Given the description of an element on the screen output the (x, y) to click on. 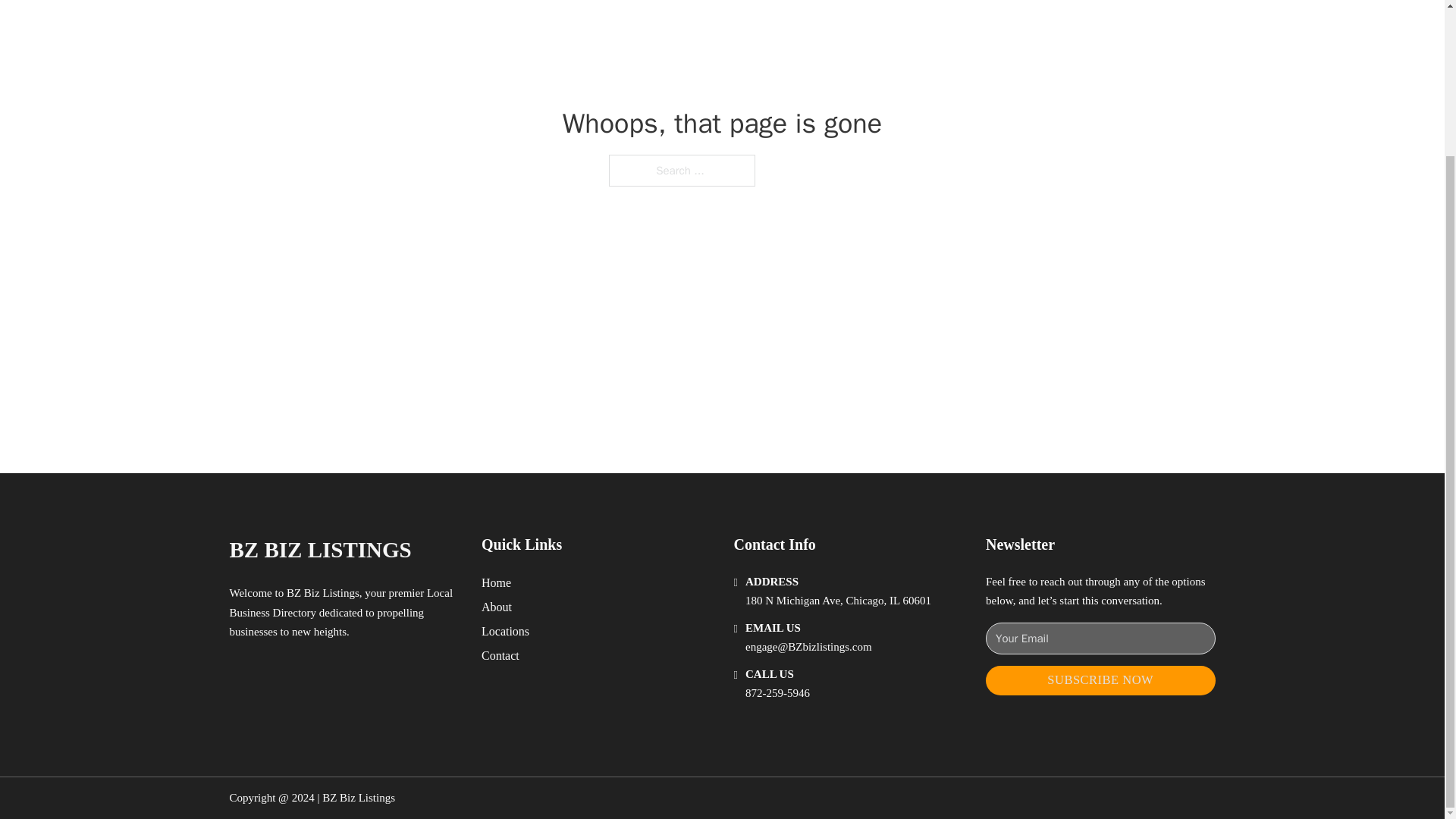
Locations (505, 630)
Contact (500, 655)
872-259-5946 (777, 693)
Home (496, 582)
About (496, 607)
SUBSCRIBE NOW (1100, 680)
BZ BIZ LISTINGS (319, 549)
